Given the description of an element on the screen output the (x, y) to click on. 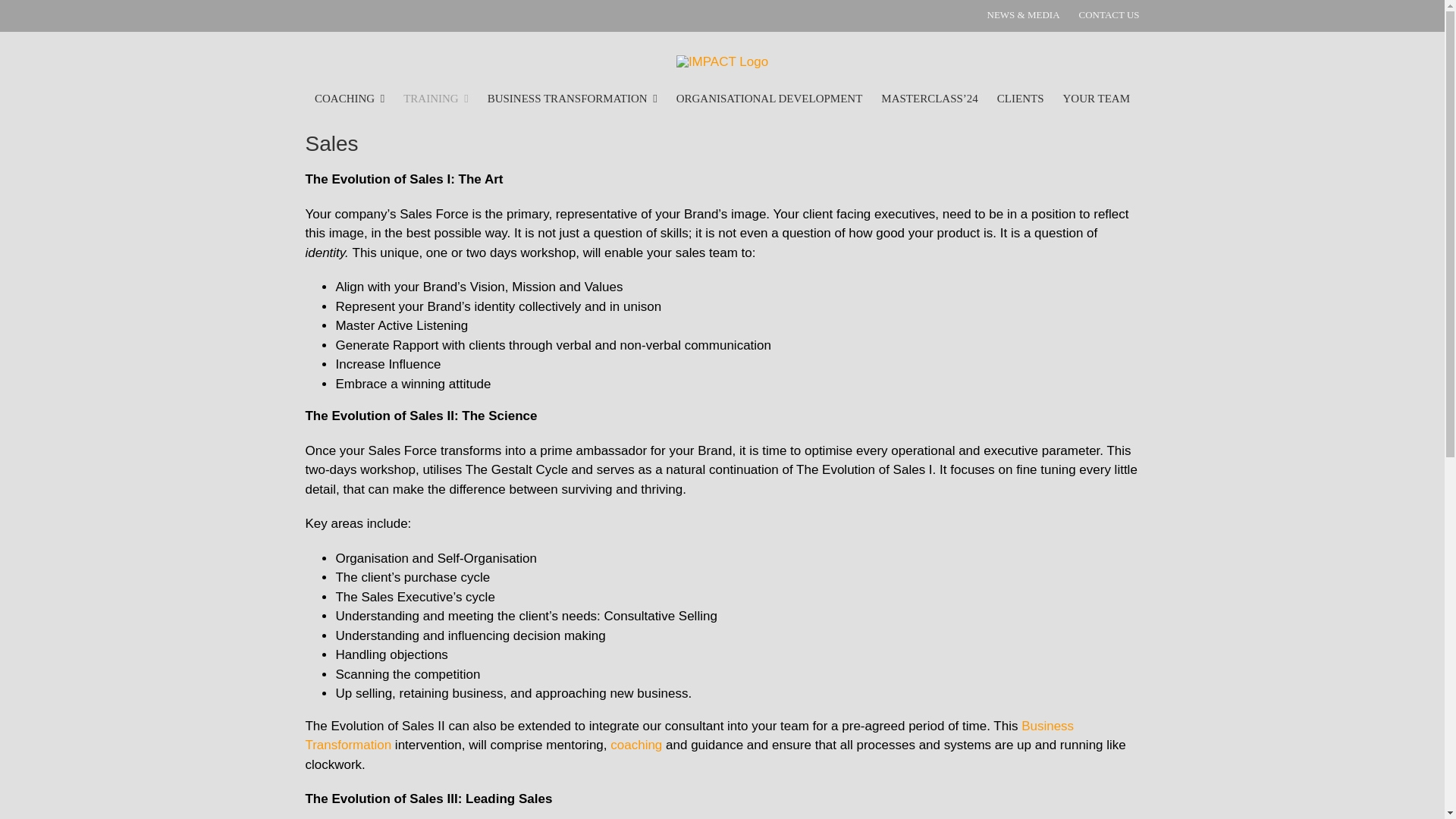
BUSINESS TRANSFORMATION (572, 98)
ORGANISATIONAL DEVELOPMENT (770, 98)
YOUR TEAM (1095, 98)
CONTACT US (1109, 15)
CLIENTS (1020, 98)
TRAINING (435, 98)
COACHING (349, 98)
